Given the description of an element on the screen output the (x, y) to click on. 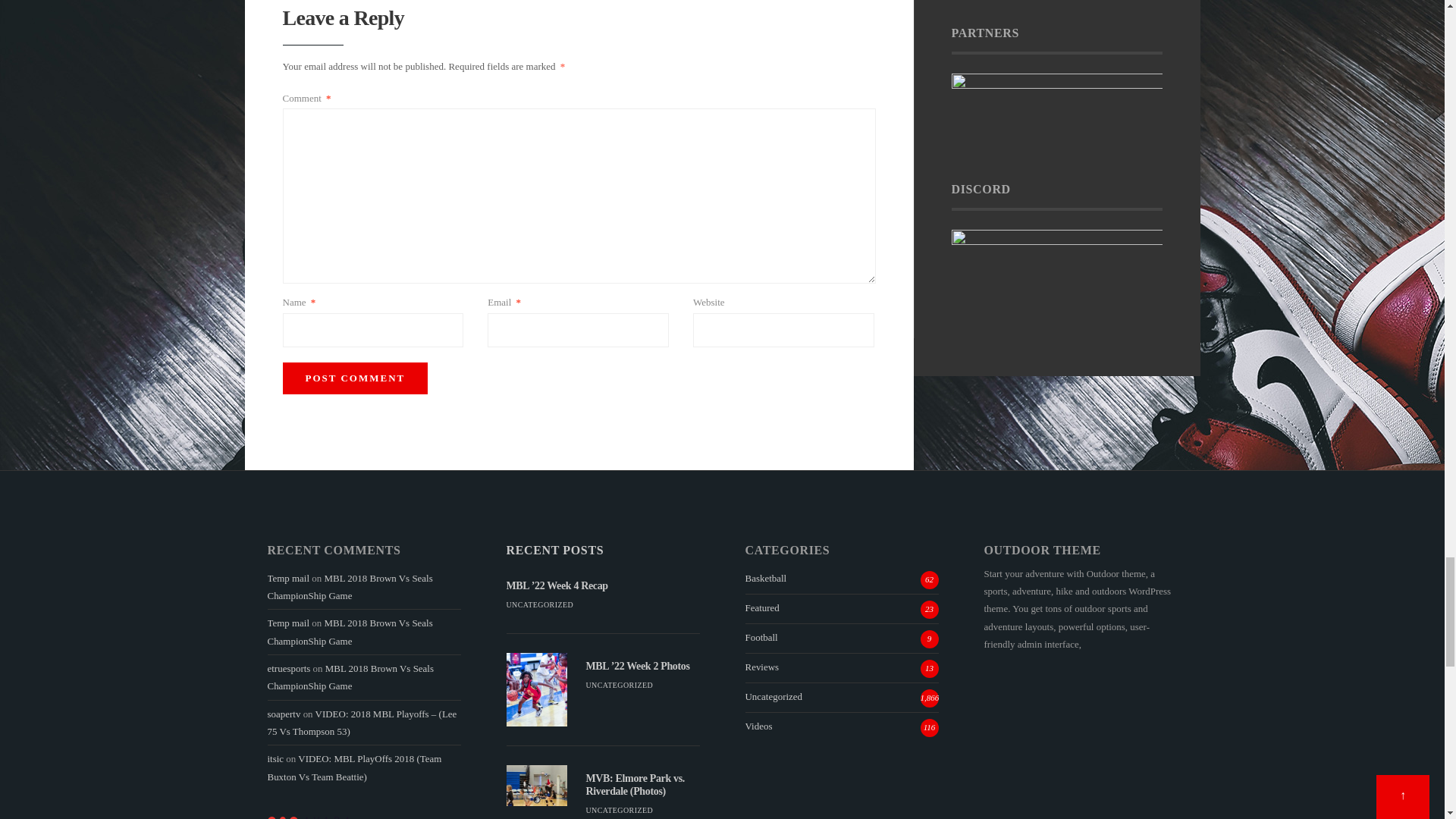
Post Comment (355, 377)
Post Comment (355, 377)
